Given the description of an element on the screen output the (x, y) to click on. 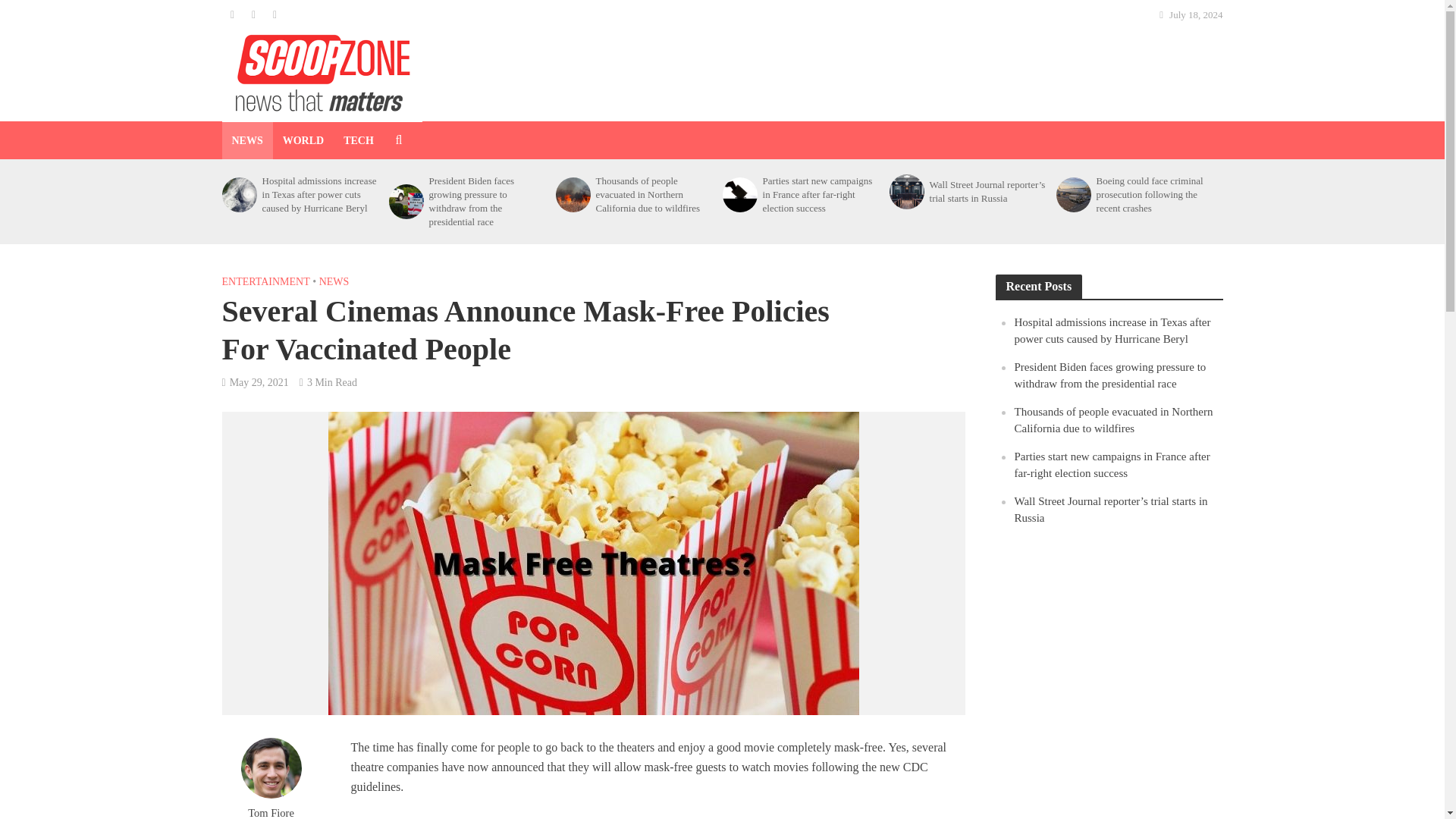
WORLD (303, 140)
NEWS (246, 140)
Tom Fiore (270, 812)
TECH (358, 140)
NEWS (333, 283)
ENTERTAINMENT (264, 283)
